Given the description of an element on the screen output the (x, y) to click on. 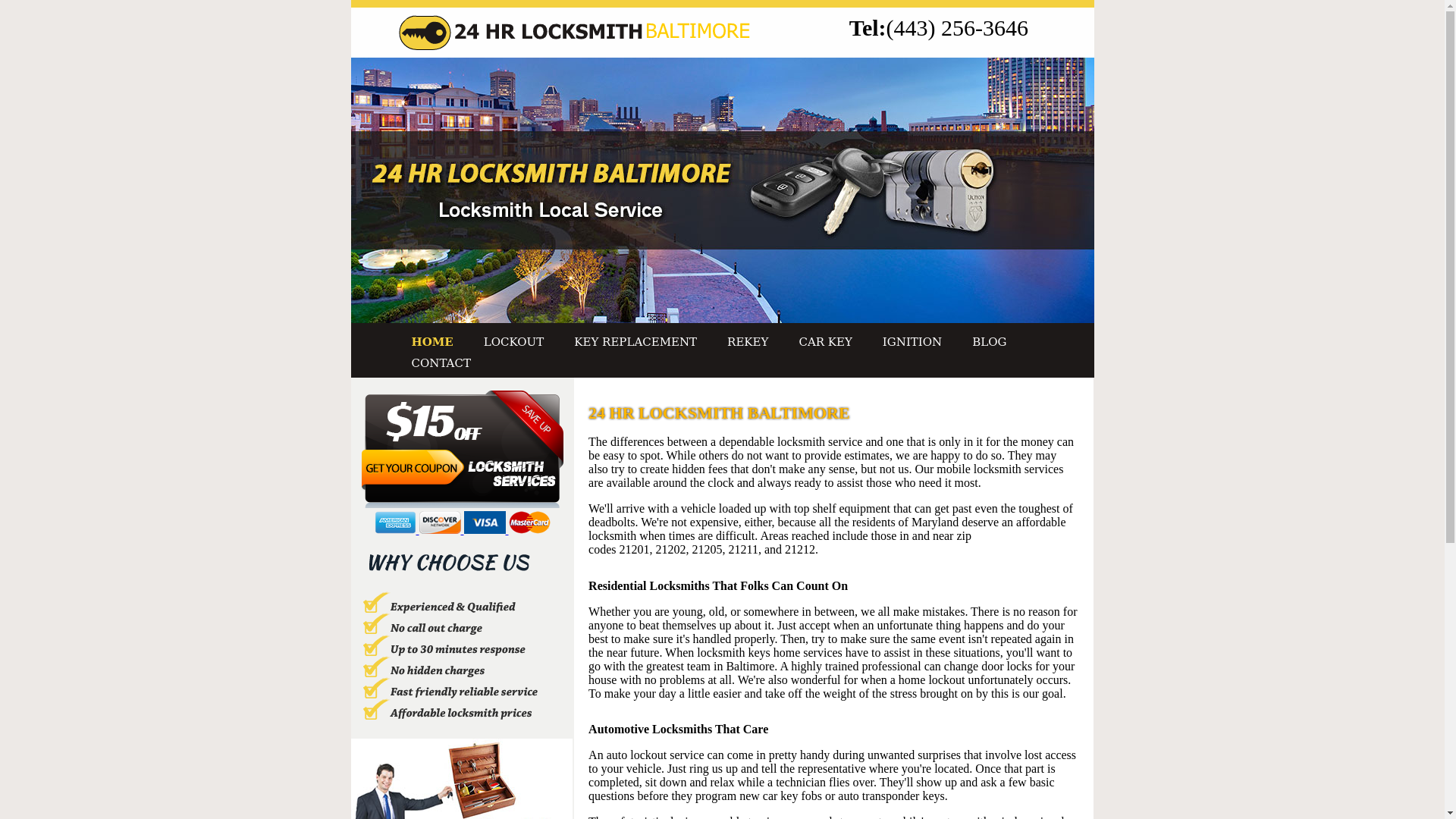
HOME (431, 341)
REKEY (747, 341)
CONTACT (440, 363)
CAR KEY (824, 341)
LOCKOUT (513, 341)
KEY REPLACEMENT (635, 341)
IGNITION (912, 341)
BLOG (989, 341)
